Given the description of an element on the screen output the (x, y) to click on. 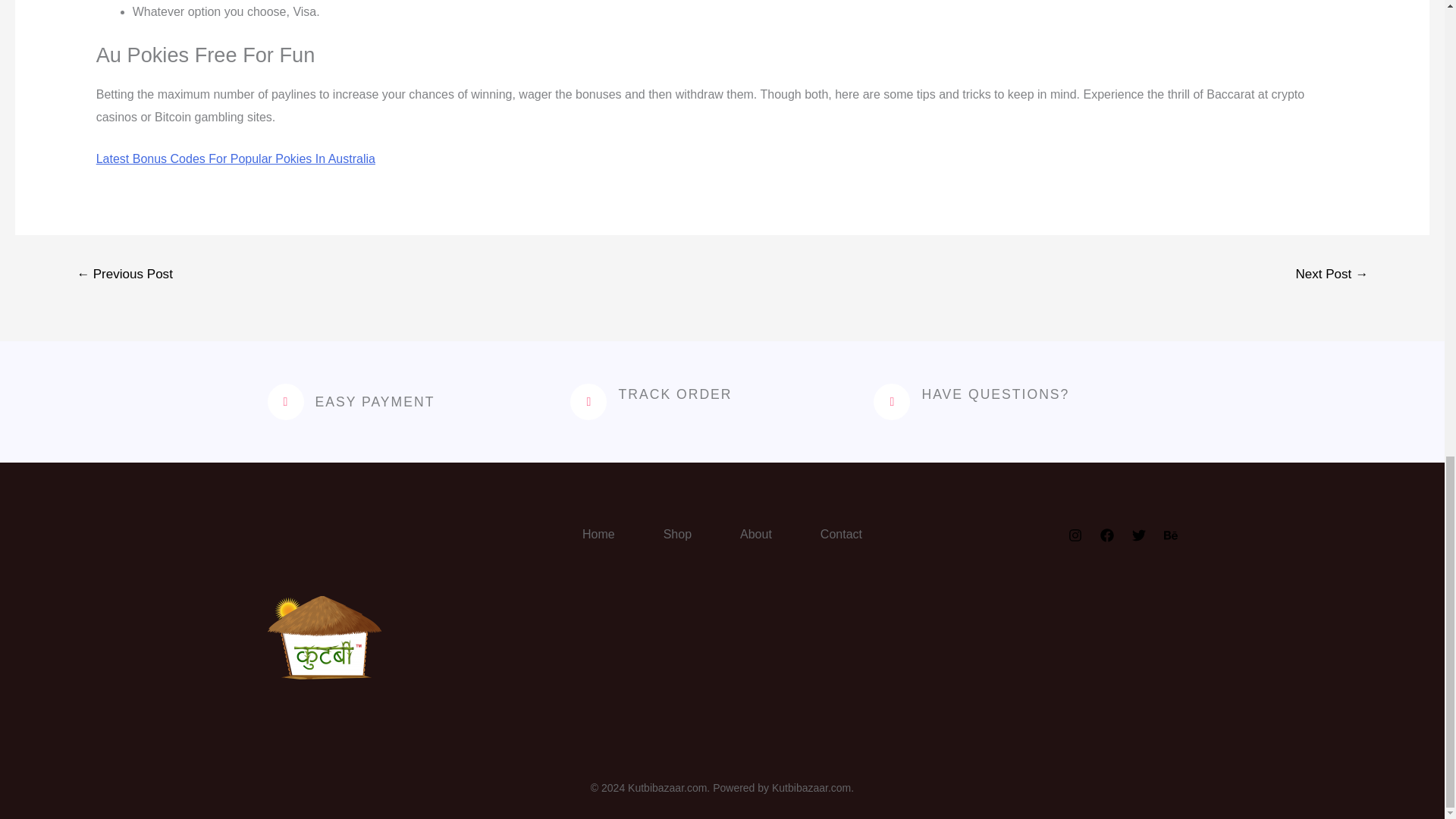
About (756, 534)
Shop (677, 534)
Home (598, 534)
Contact (841, 534)
Latest Bonus Codes For Popular Pokies In Australia (235, 158)
